Given the description of an element on the screen output the (x, y) to click on. 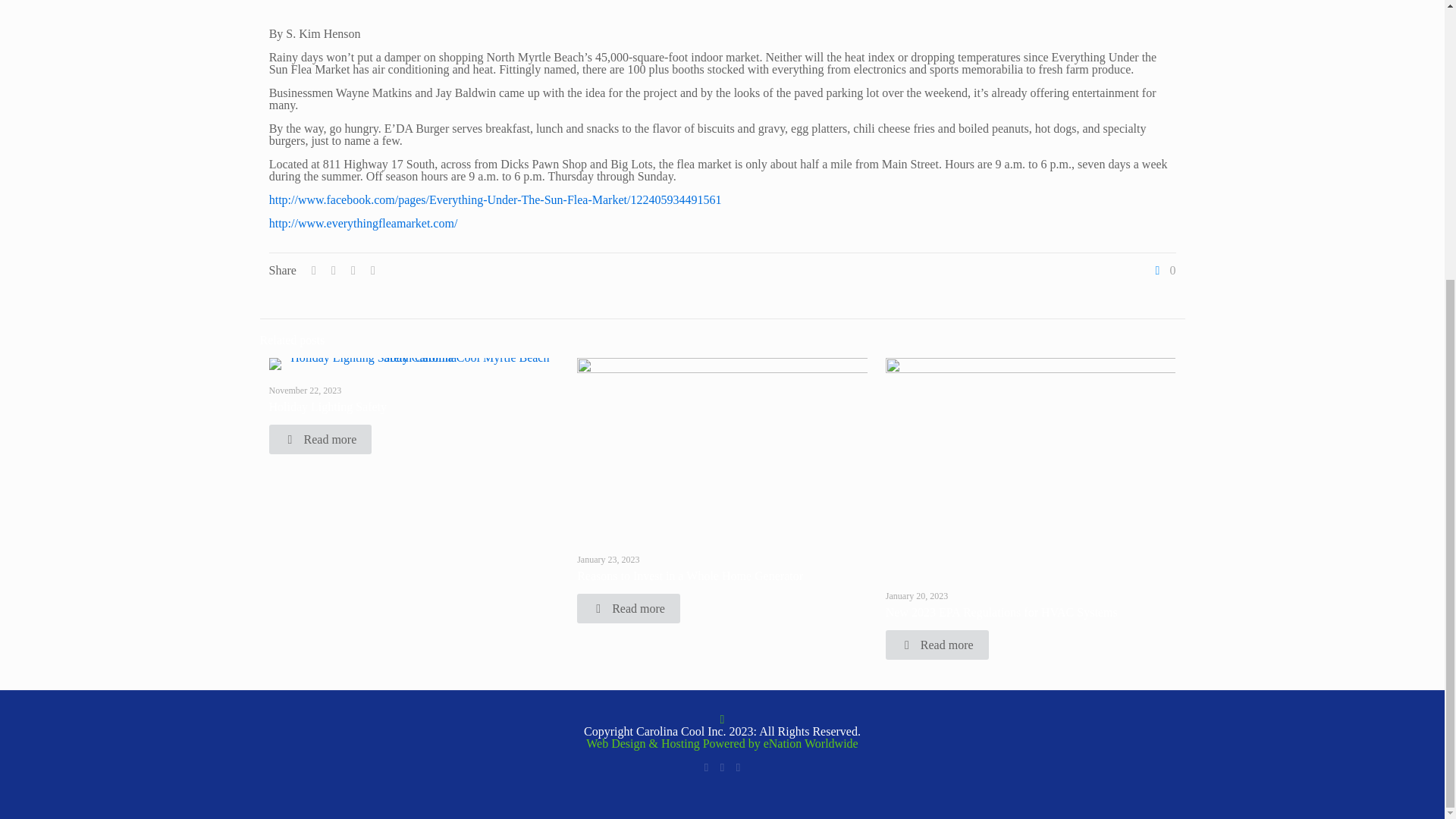
LinkedIn (722, 767)
Facebook (705, 767)
myrtle beach web designers enation worldwide (810, 743)
myrtle beach web design (674, 743)
